Given the description of an element on the screen output the (x, y) to click on. 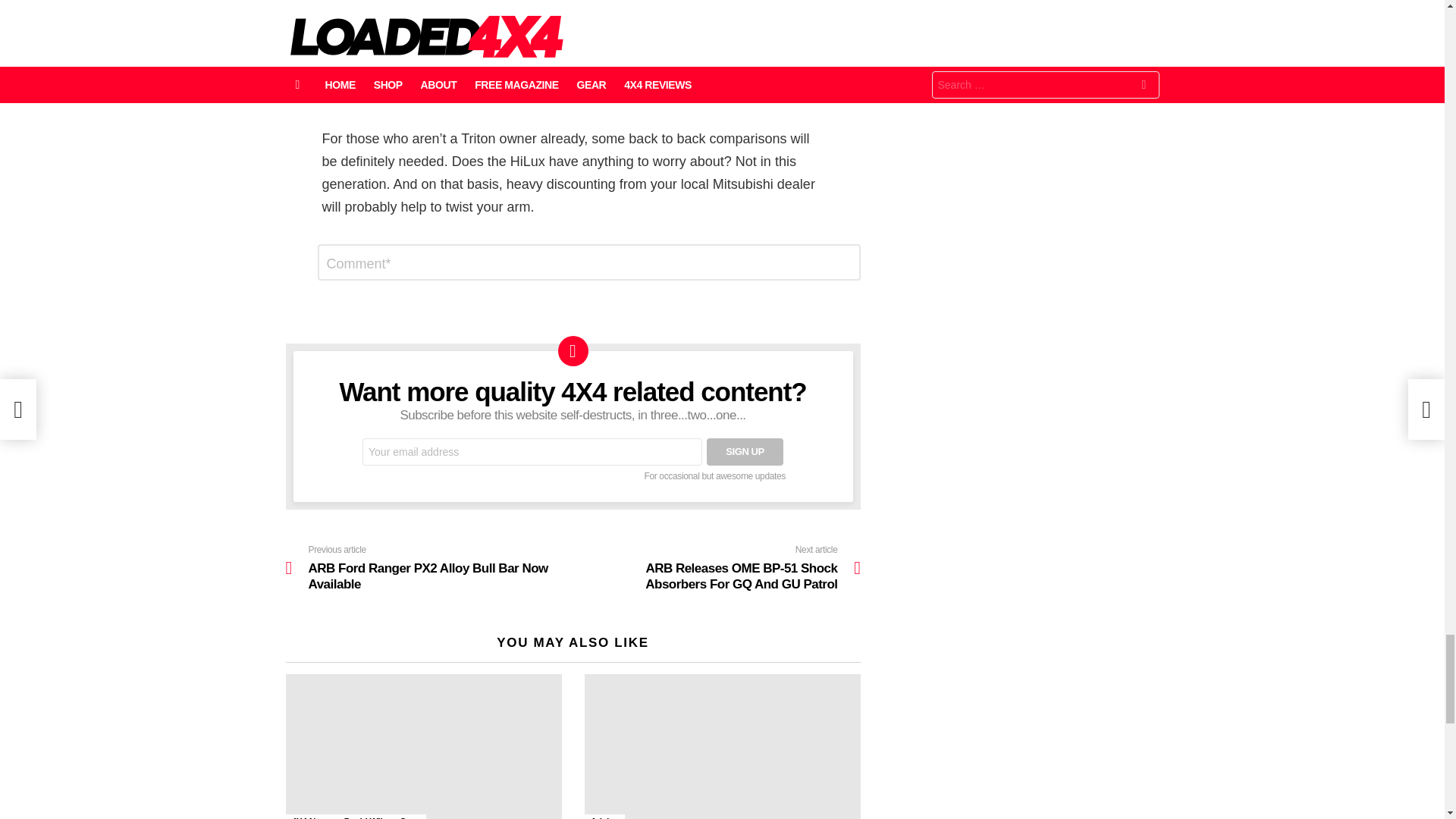
Sign up (744, 452)
David Wilson Says (381, 816)
Advice (603, 816)
Beam Me Up Scottie! (721, 746)
4X4 News (311, 816)
Sign up (744, 452)
